Given the description of an element on the screen output the (x, y) to click on. 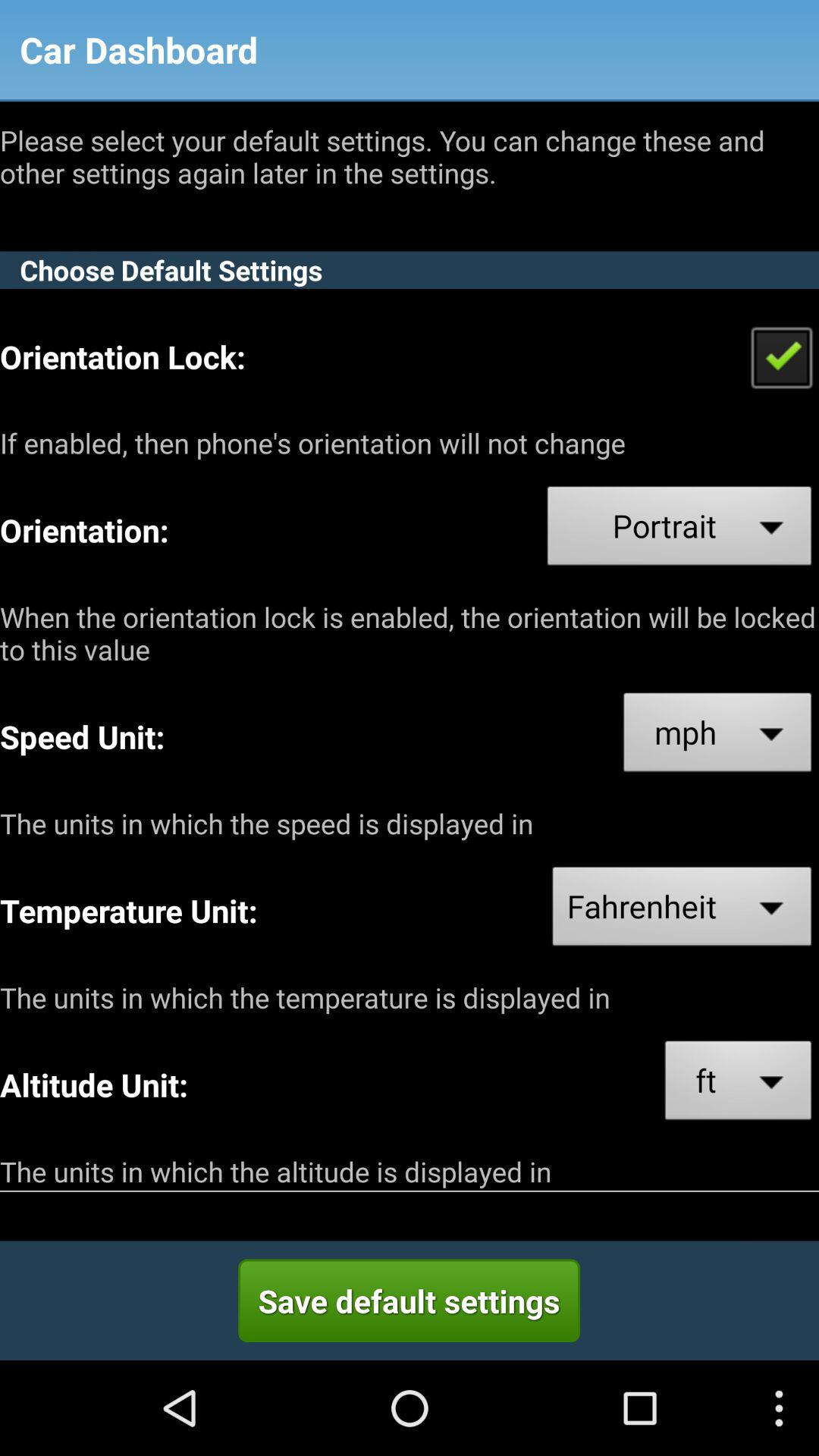
select option (781, 356)
